Given the description of an element on the screen output the (x, y) to click on. 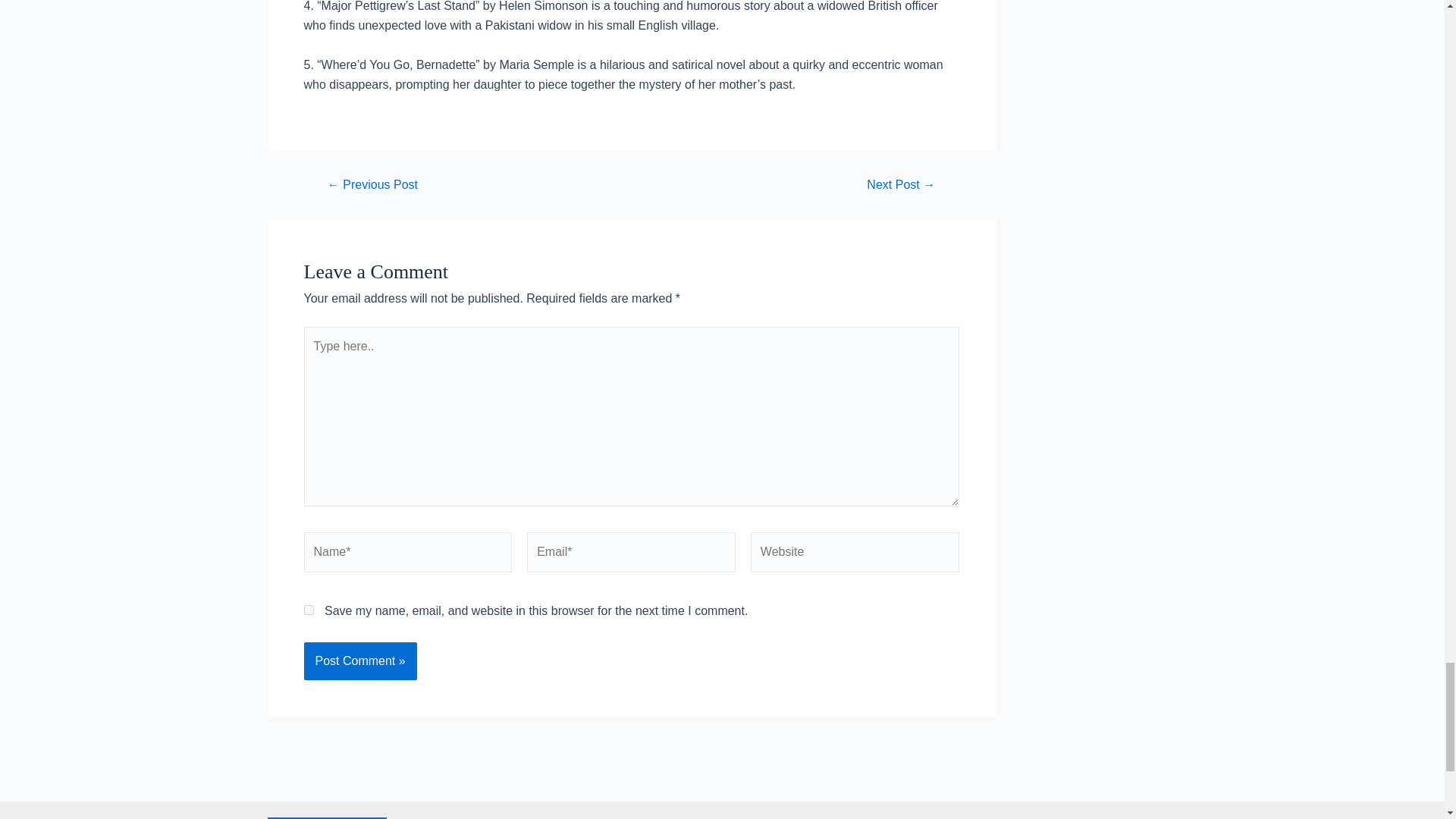
yes (307, 610)
